Given the description of an element on the screen output the (x, y) to click on. 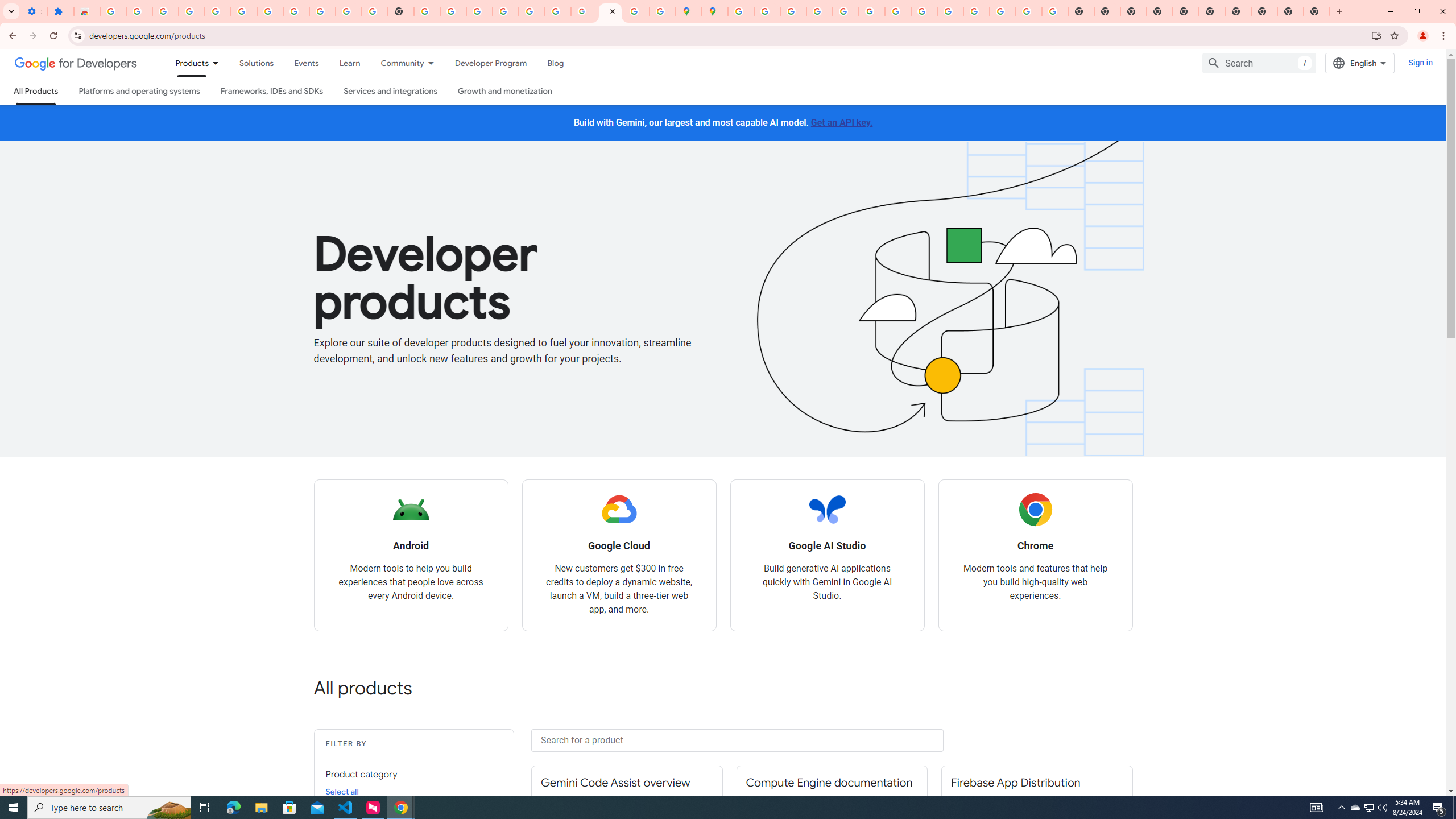
YouTube (348, 11)
Android logo (411, 509)
Sign in - Google Accounts (505, 11)
Events (306, 62)
https://scholar.google.com/ (427, 11)
Developer products - Google for Developers (610, 11)
YouTube (897, 11)
New Tab (1159, 11)
Sign in - Google Accounts (740, 11)
